Given the description of an element on the screen output the (x, y) to click on. 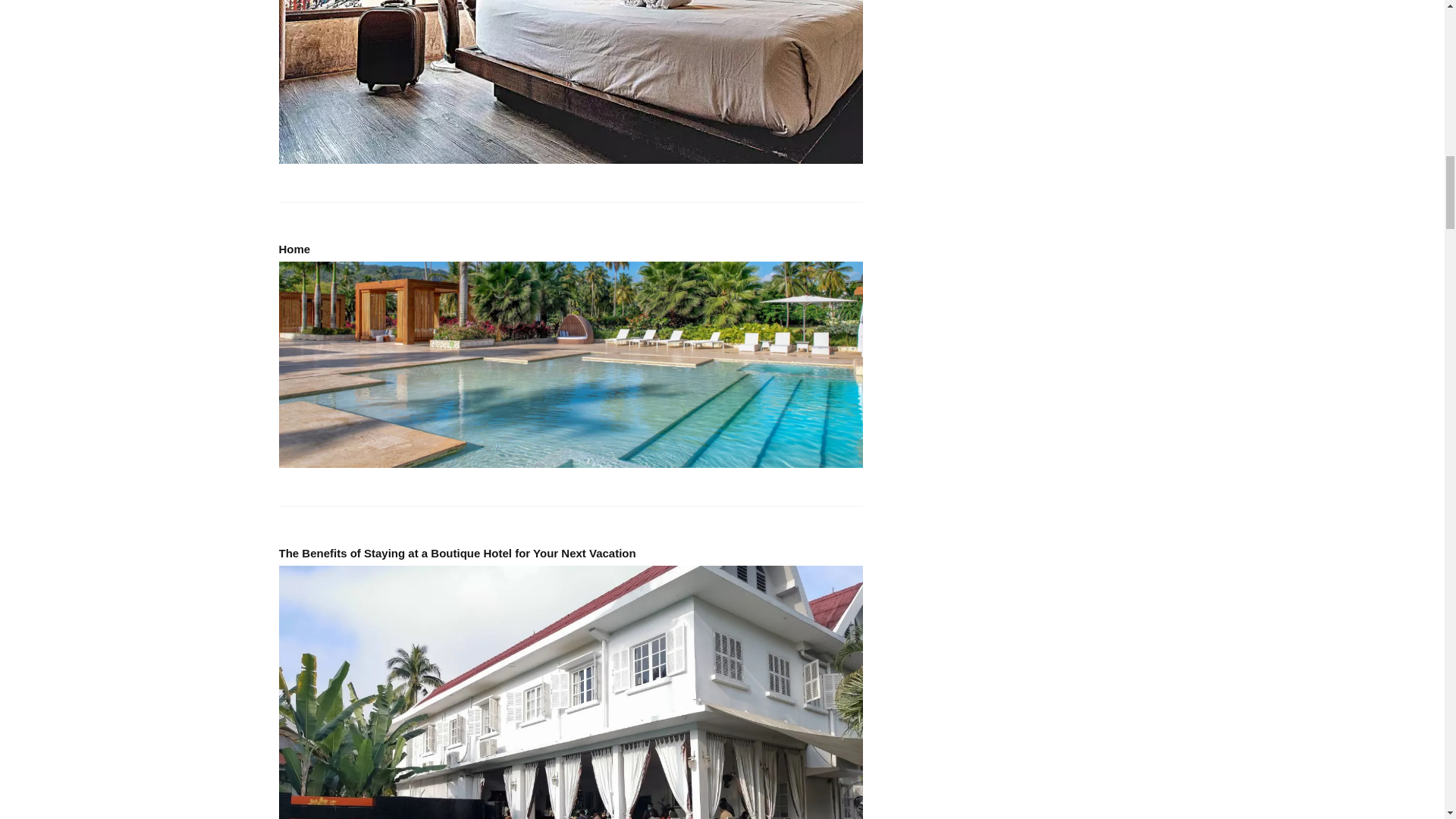
gema travel (571, 81)
gema travel (571, 364)
